Given the description of an element on the screen output the (x, y) to click on. 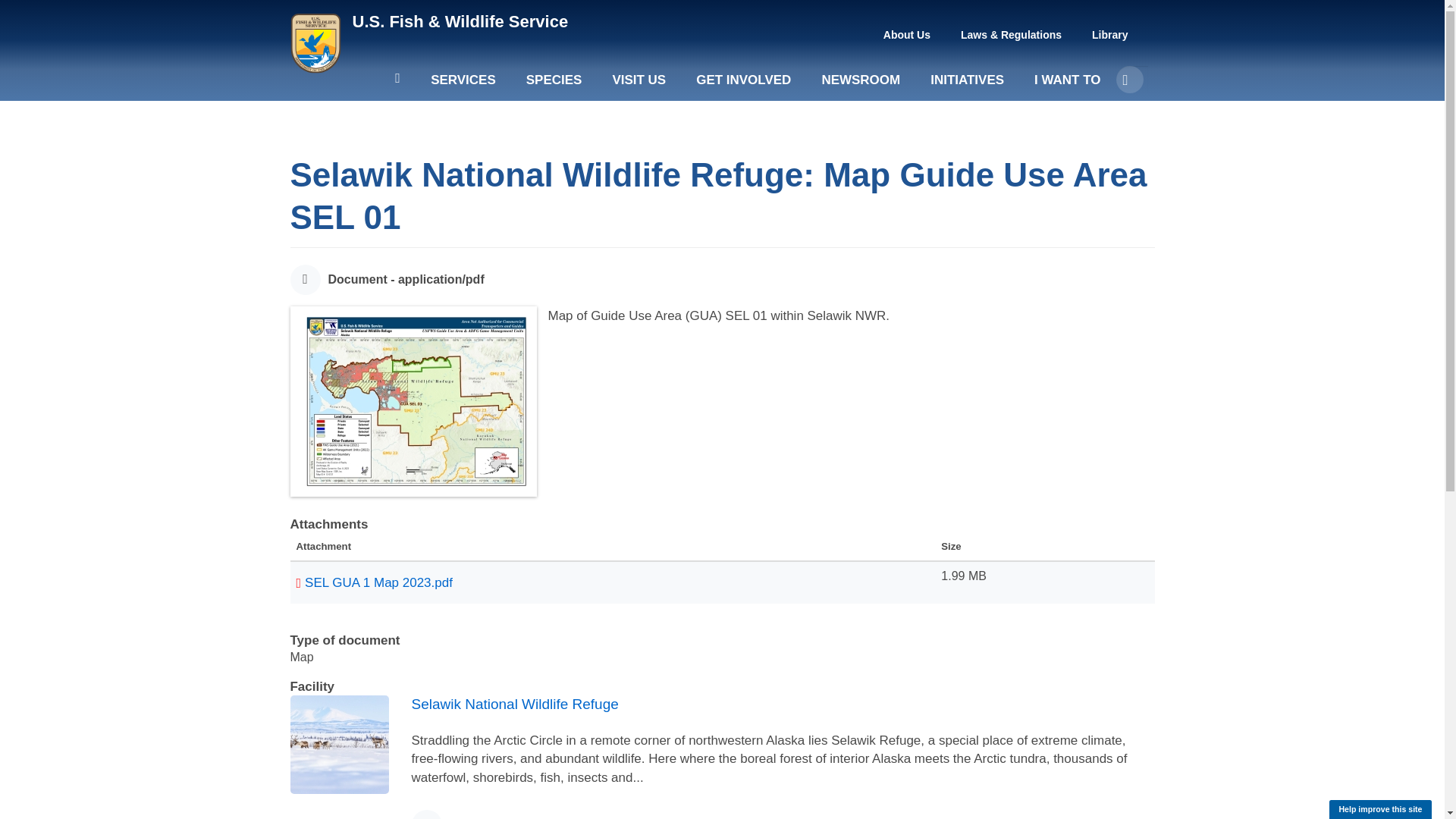
Library (1109, 34)
SERVICES (463, 86)
FWS Home (459, 21)
Access services provided by FWS (463, 86)
About Us (906, 34)
